Given the description of an element on the screen output the (x, y) to click on. 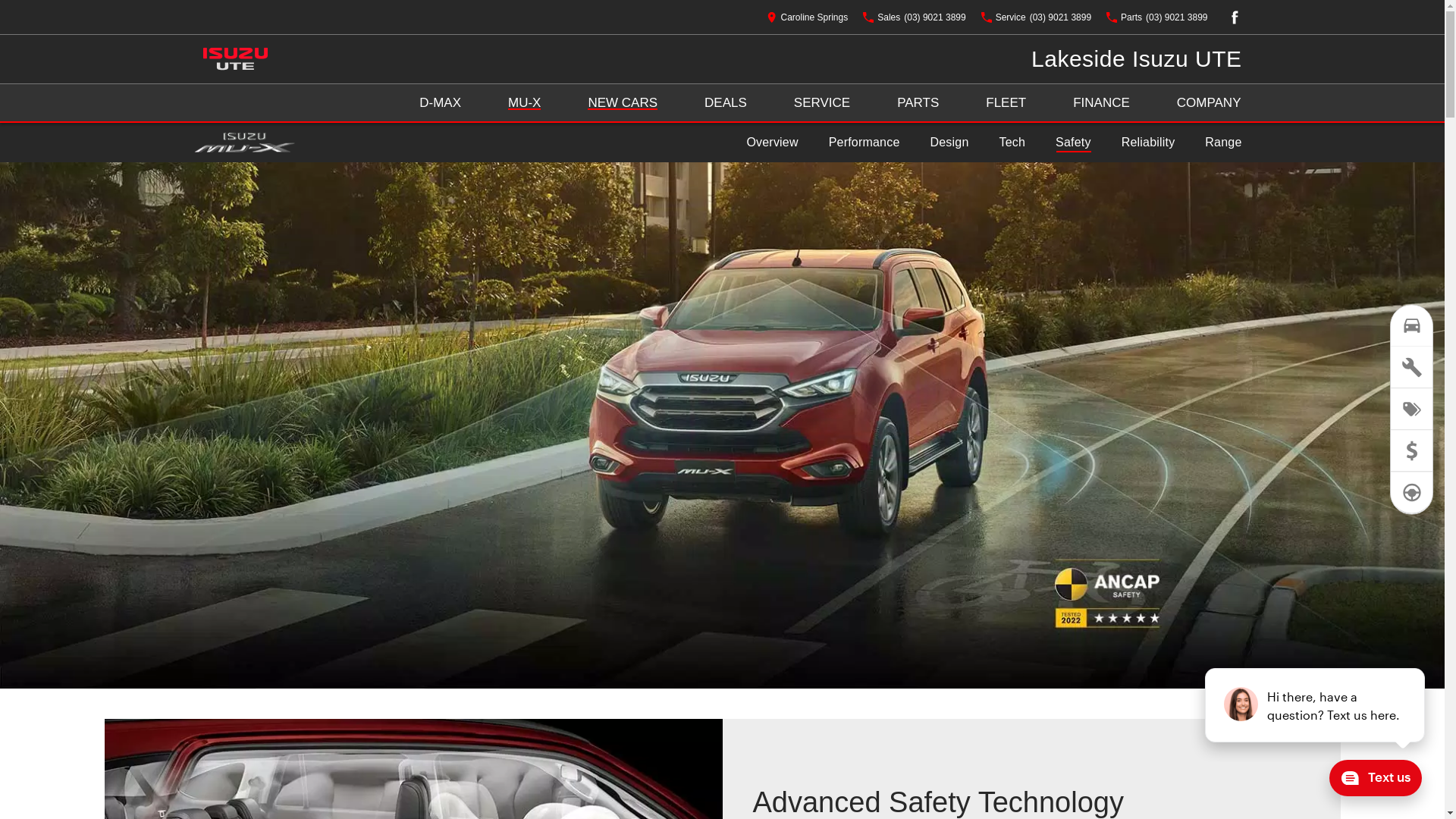
Overview Element type: text (771, 142)
Parts
(03) 9021 3899 Element type: text (1156, 16)
Lakeside Isuzu UTE Element type: text (1136, 59)
Sales
(03) 9021 3899 Element type: text (913, 16)
Safety Element type: text (1073, 142)
D-MAX Element type: text (440, 102)
Reliability Element type: text (1148, 142)
podium webchat widget prompt Element type: hover (1315, 705)
Caroline Springs Element type: text (806, 16)
DEALS Element type: text (725, 102)
NEW CARS Element type: text (622, 102)
Design Element type: text (948, 142)
COMPANY Element type: text (1208, 102)
Range Element type: text (1222, 142)
Tech Element type: text (1012, 142)
MU-X Element type: text (523, 102)
PARTS Element type: text (917, 102)
SERVICE Element type: text (821, 102)
Performance Element type: text (864, 142)
FLEET Element type: text (1005, 102)
FINANCE Element type: text (1101, 102)
Service
(03) 9021 3899 Element type: text (1036, 16)
